Given the description of an element on the screen output the (x, y) to click on. 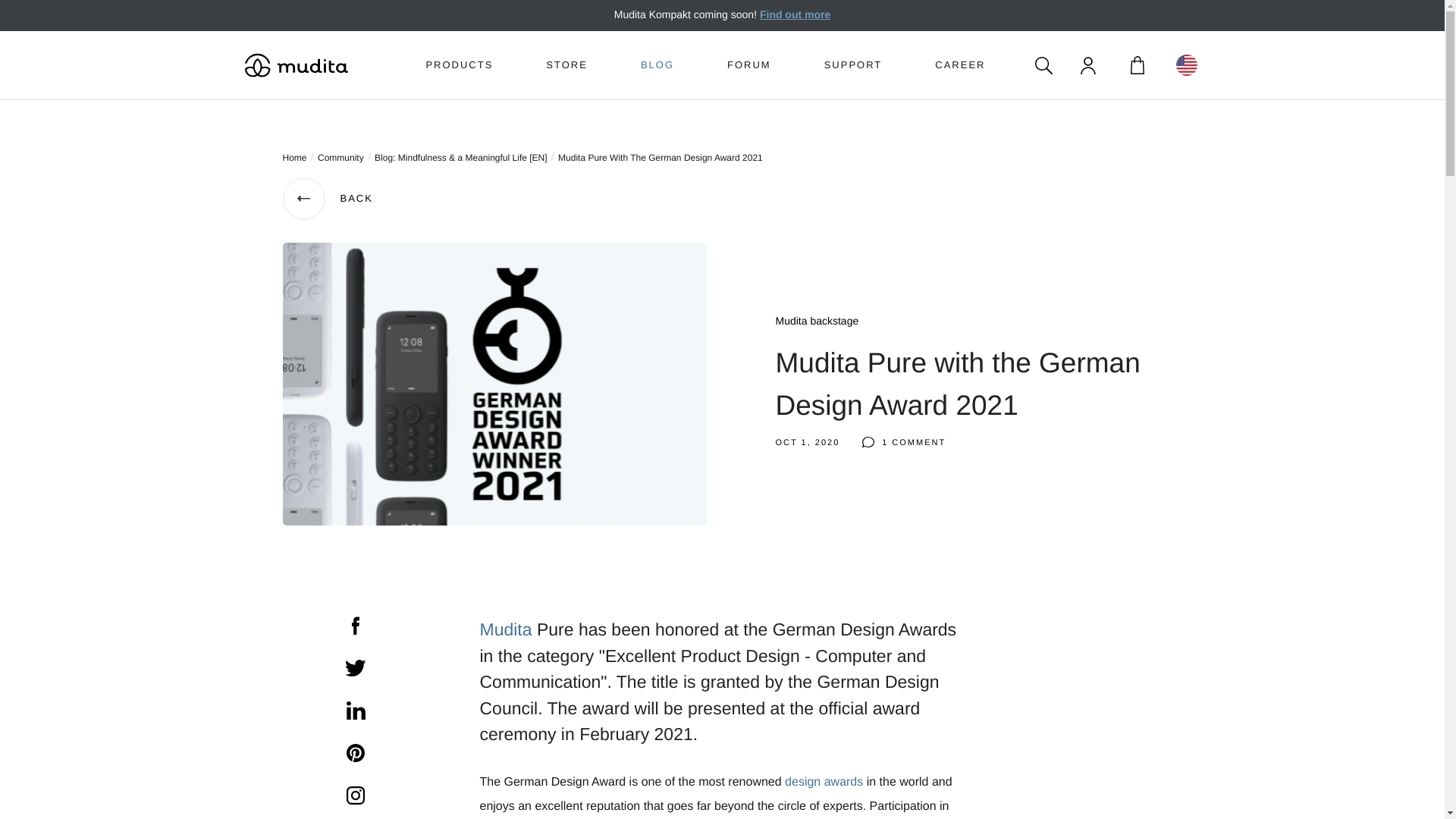
SUPPORT (853, 65)
Find out more (794, 14)
PRODUCTS (459, 65)
CAREER (959, 65)
Help widget launcher (75, 781)
STORE (567, 65)
BLOG (657, 65)
FORUM (748, 65)
